Given the description of an element on the screen output the (x, y) to click on. 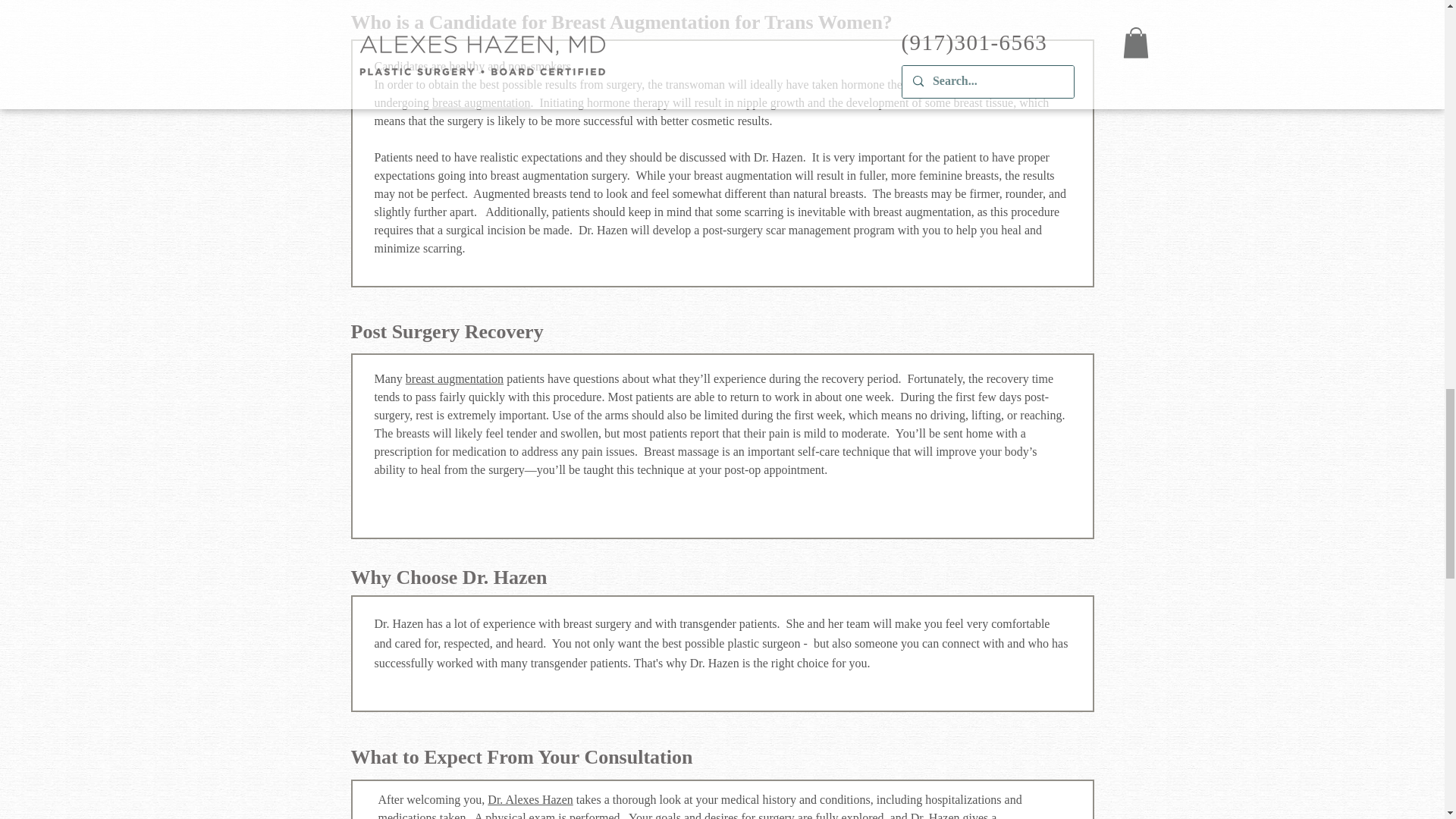
Dr. Alexes Hazen (529, 799)
plastic surgeon (762, 643)
breast augmentation (454, 378)
breast augmentation (480, 102)
